Given the description of an element on the screen output the (x, y) to click on. 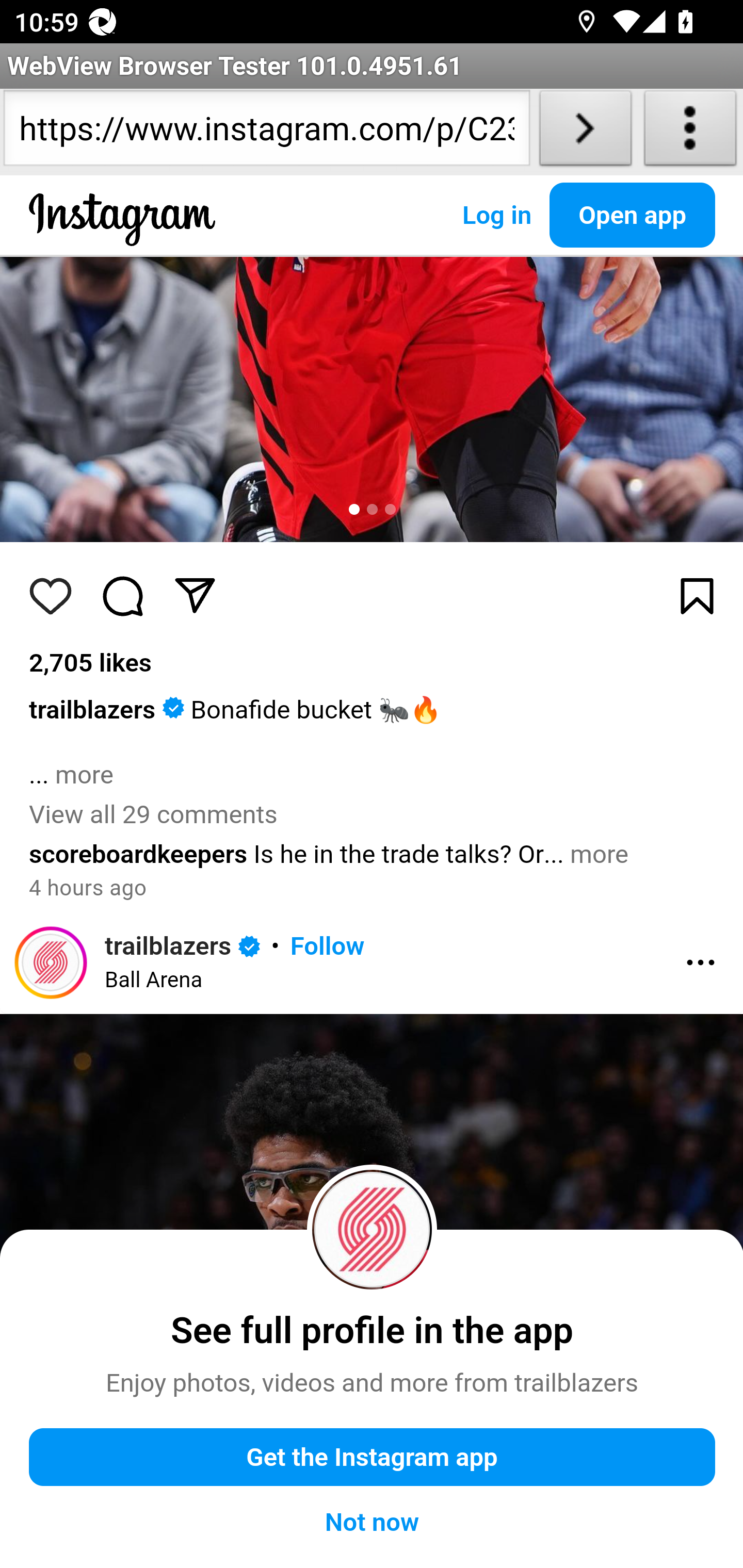
Load URL (585, 132)
About WebView (690, 132)
Like (51, 596)
Comment (123, 596)
Share Post (195, 596)
Save (697, 596)
2,705 likes 2,705  likes (90, 662)
trailblazers (92, 710)
more (83, 775)
View all 29 comments View all  29  comments (152, 815)
scoreboardkeepers (138, 854)
more (599, 854)
4 hours ago Feb 3, 2024 (87, 888)
More options (701, 963)
trailblazers (168, 946)
Follow (327, 946)
trailblazers's profile picture (50, 962)
Ball Arena (153, 981)
